Given the description of an element on the screen output the (x, y) to click on. 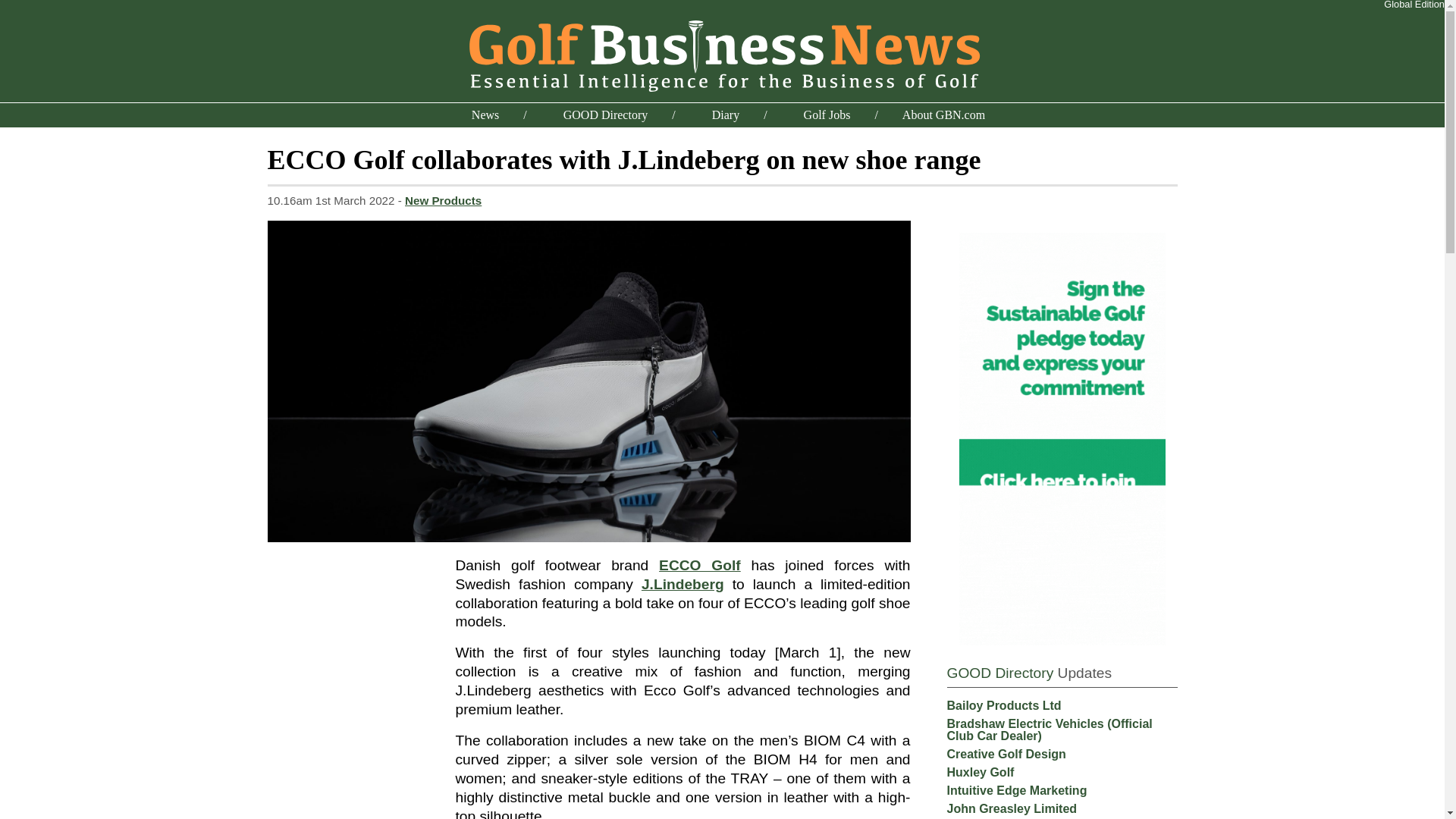
ECCO Golf (700, 565)
GBN Home (722, 52)
Intuitive Edge Marketing (1016, 789)
Golf Jobs (826, 114)
John Greasley Limited (1011, 808)
Bailoy Products Ltd (1003, 705)
New Products (442, 200)
All the latest news from the golf industry (485, 114)
Diary (725, 114)
GOOD Directory (999, 672)
